Given the description of an element on the screen output the (x, y) to click on. 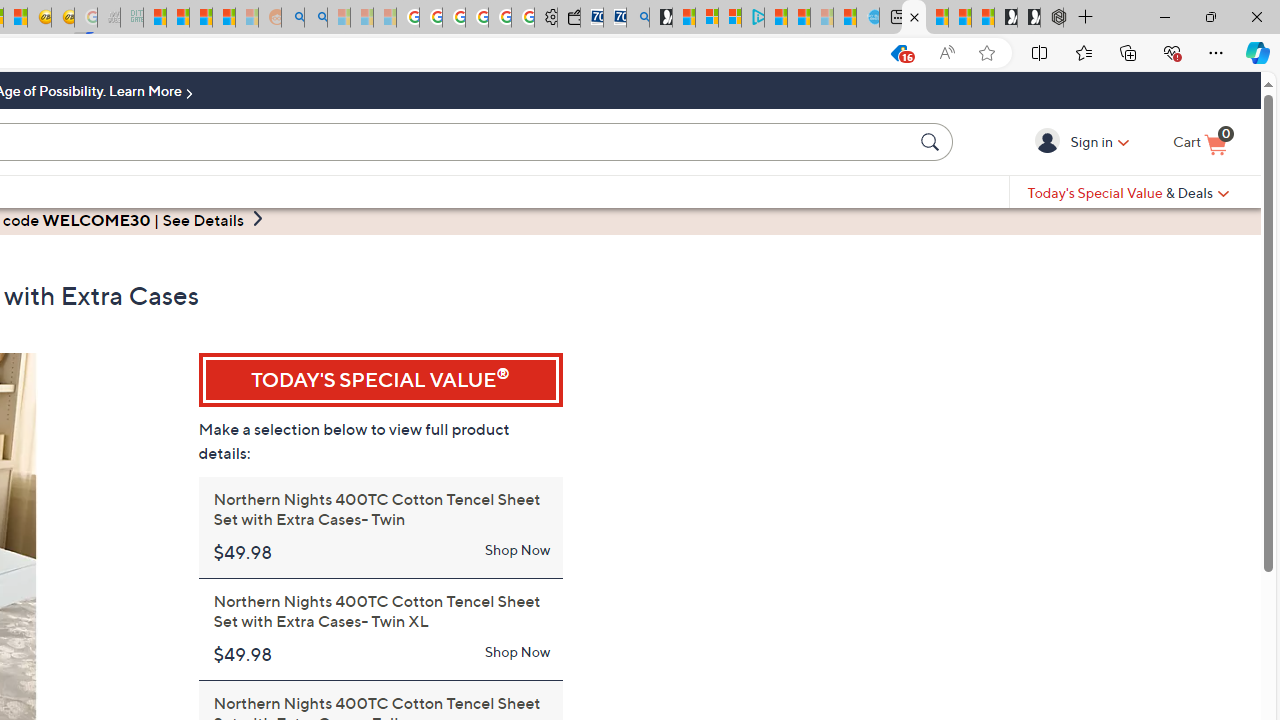
Student Loan Update: Forgiveness Program Ends This Month (223, 17)
Home | Sky Blue Bikes - Sky Blue Bikes (867, 17)
Cheap Car Rentals - Save70.com (614, 17)
